Given the description of an element on the screen output the (x, y) to click on. 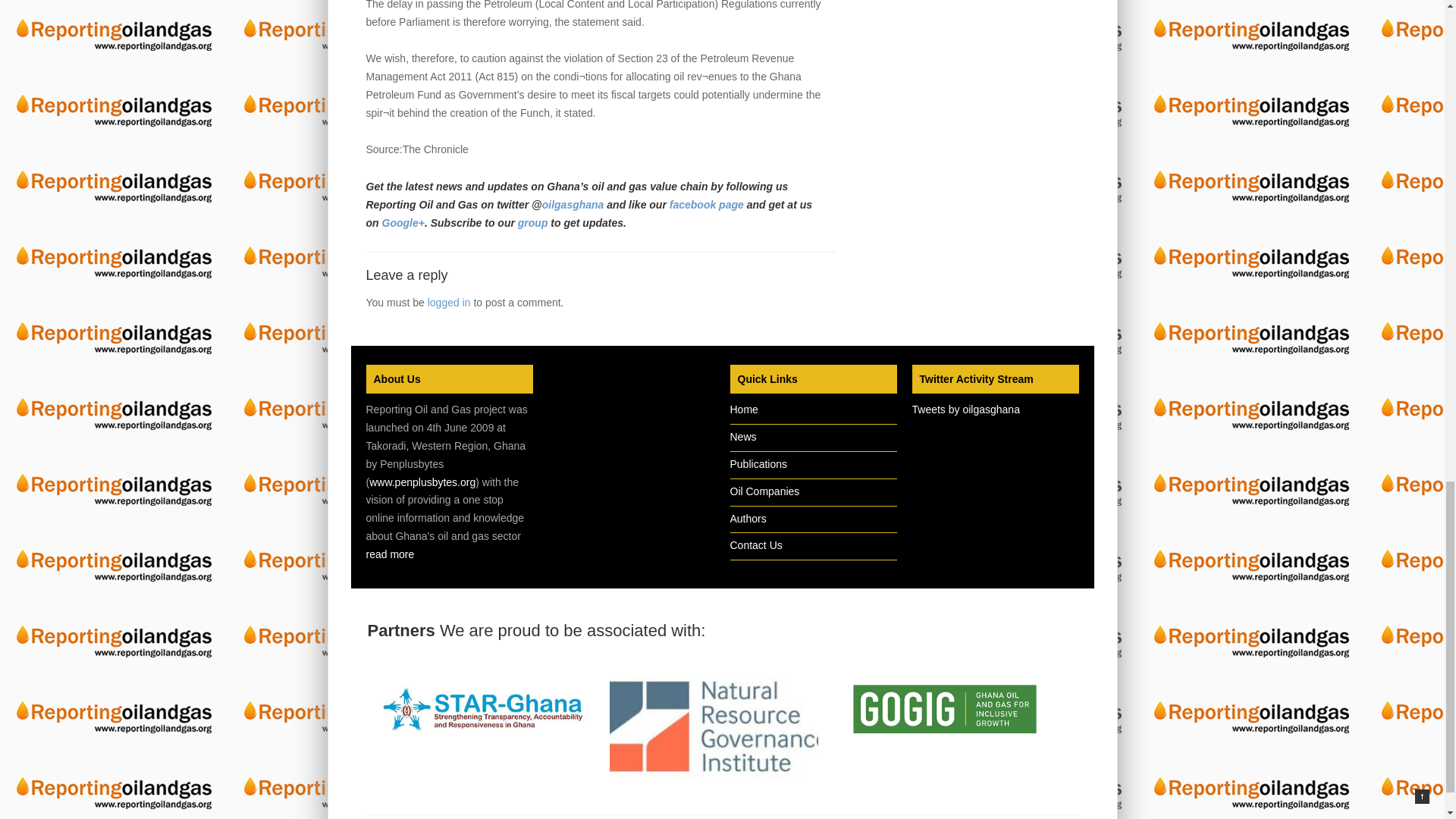
oilgasghana (572, 204)
group  (534, 223)
facebook page  (707, 204)
